Given the description of an element on the screen output the (x, y) to click on. 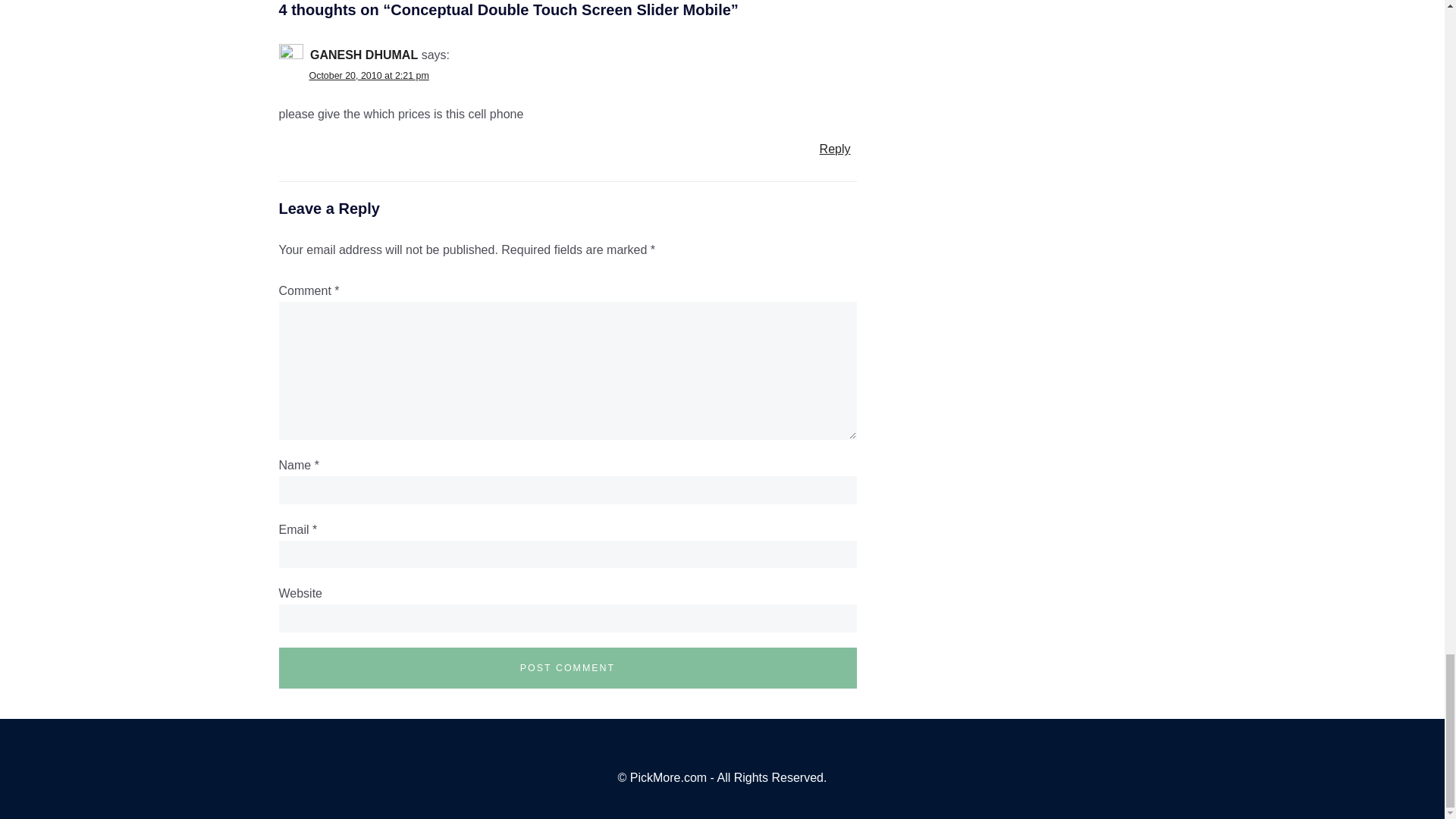
Post Comment (568, 667)
